Given the description of an element on the screen output the (x, y) to click on. 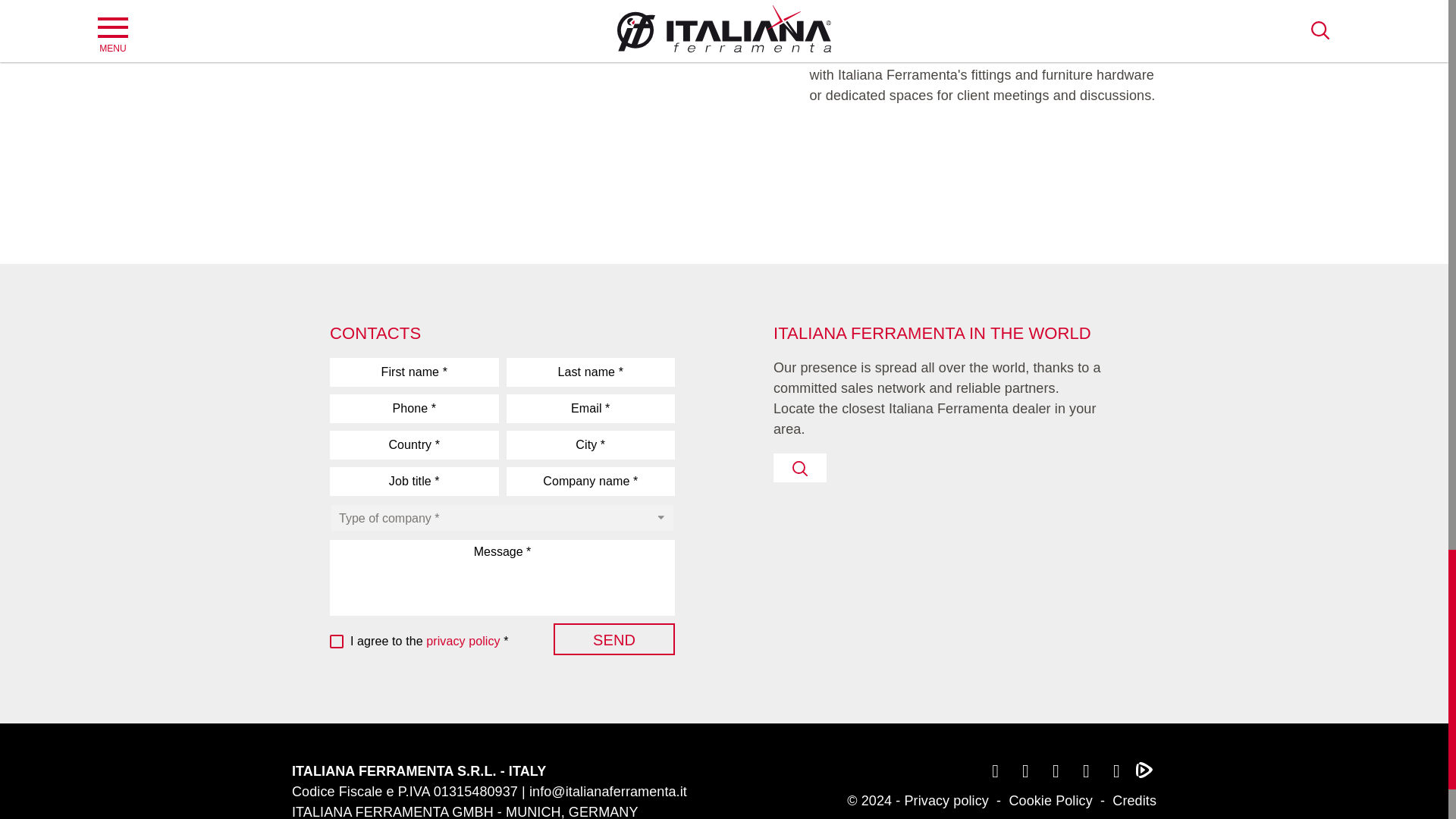
privacy policy (462, 640)
SEND (614, 639)
1 (338, 642)
